Given the description of an element on the screen output the (x, y) to click on. 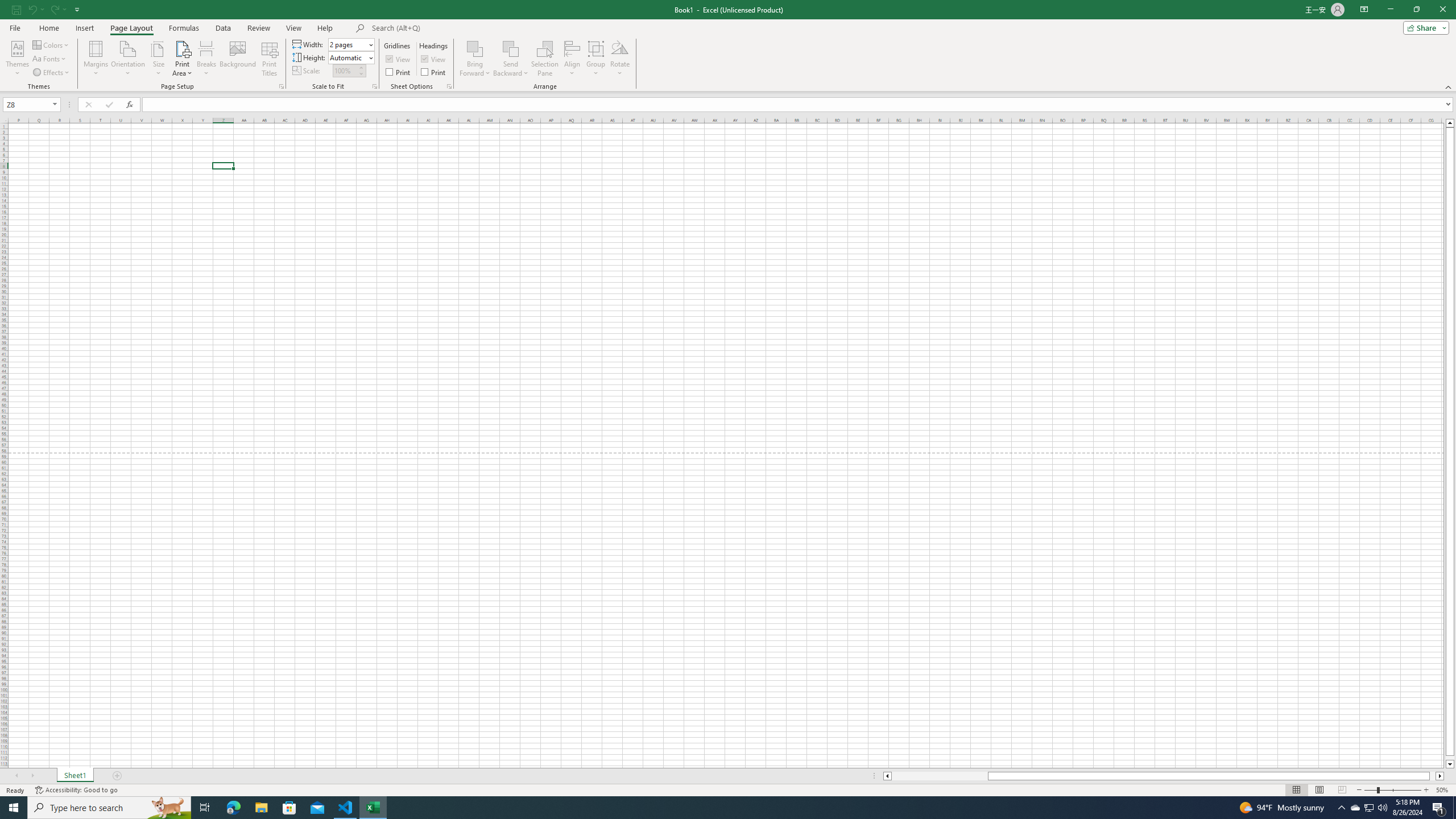
Group (595, 58)
Themes (17, 58)
Background... (237, 58)
Width (350, 44)
Size (158, 58)
Colors (51, 44)
